Given the description of an element on the screen output the (x, y) to click on. 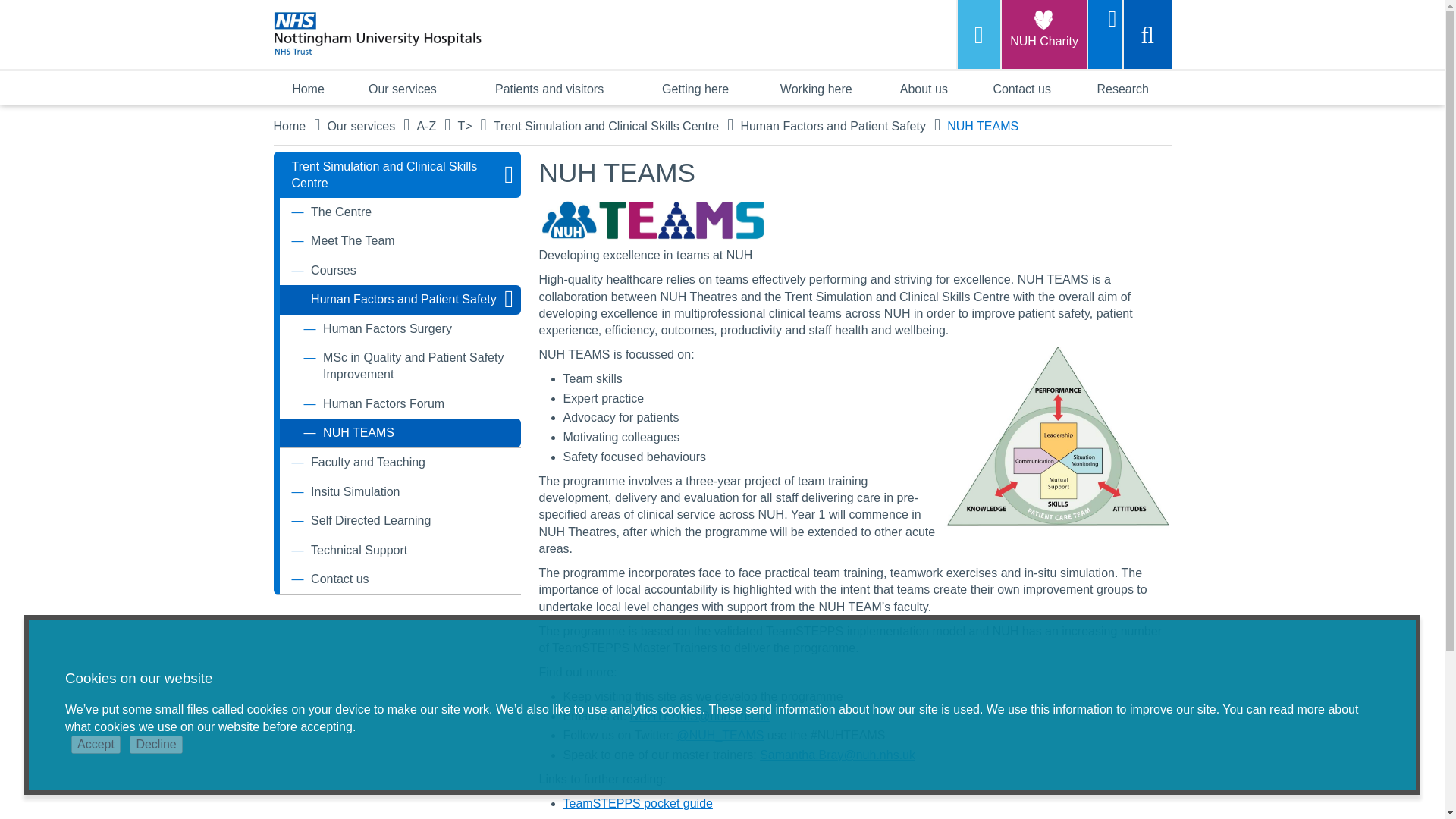
Home (307, 87)
NUH Charity (1043, 34)
Decline (155, 744)
Our services (401, 87)
Patients and visitors (549, 87)
Accept (95, 744)
